Given the description of an element on the screen output the (x, y) to click on. 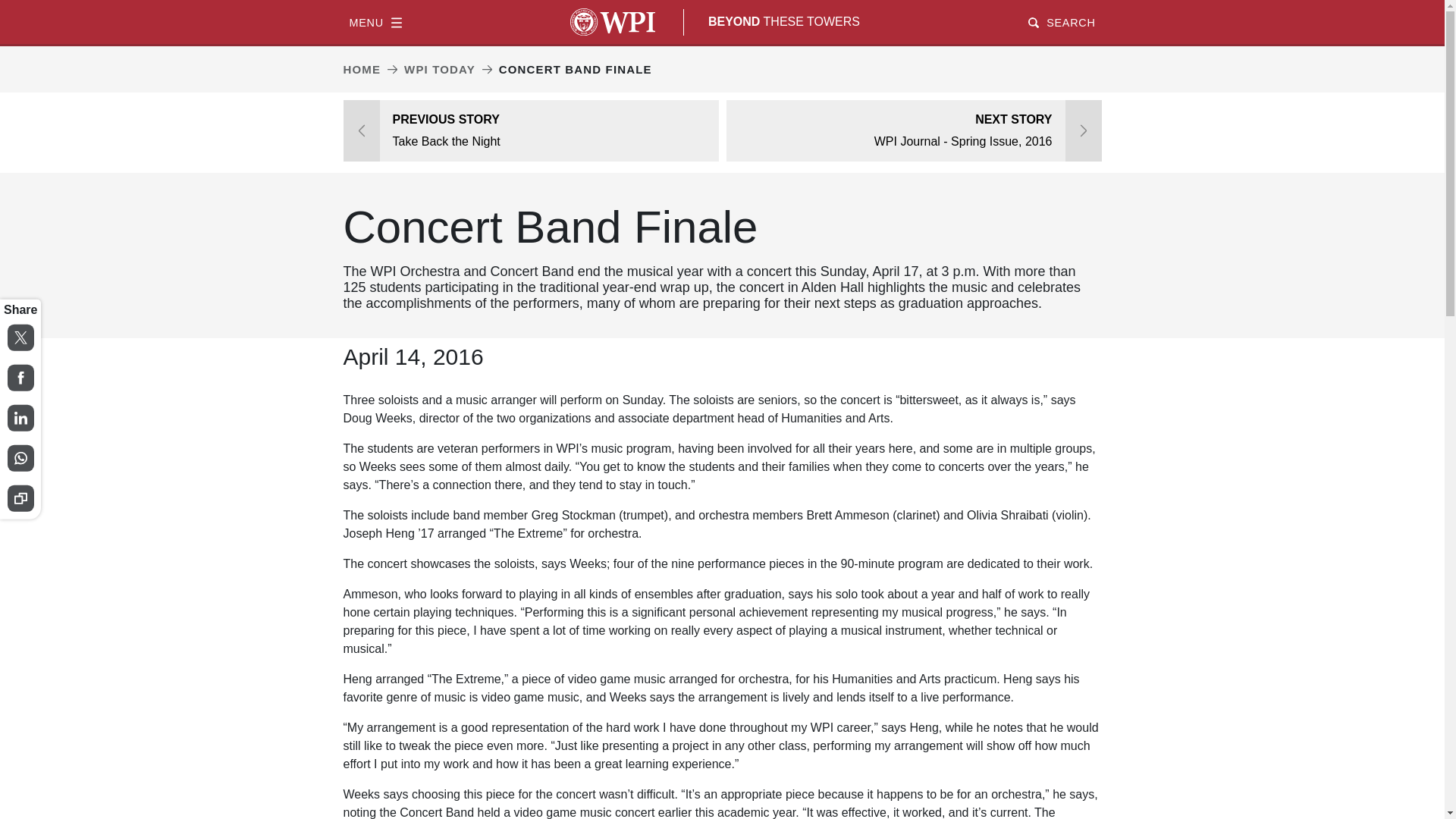
Skip to main content (721, 1)
MENU (374, 21)
WPI Home (612, 22)
SEARCH (1061, 21)
BEYOND THESE TOWERS (783, 21)
